Given the description of an element on the screen output the (x, y) to click on. 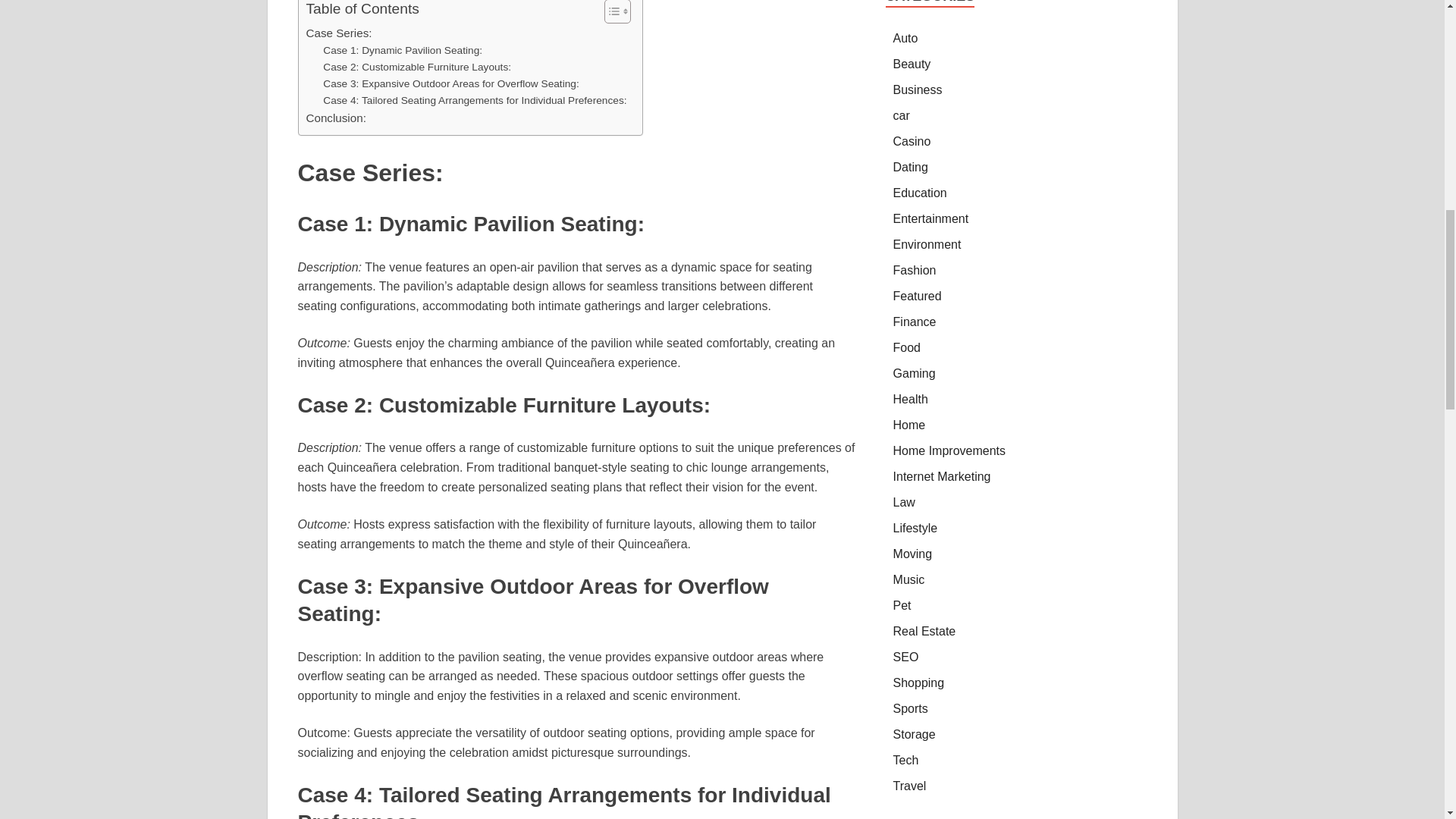
Case 2: Customizable Furniture Layouts: (417, 67)
Case Series: (338, 33)
Case 3: Expansive Outdoor Areas for Overflow Seating: (450, 84)
Conclusion: (335, 117)
Case 3: Expansive Outdoor Areas for Overflow Seating: (450, 84)
Case Series: (338, 33)
Case 1: Dynamic Pavilion Seating: (402, 50)
Case 2: Customizable Furniture Layouts: (417, 67)
Conclusion: (335, 117)
Case 1: Dynamic Pavilion Seating: (402, 50)
